Given the description of an element on the screen output the (x, y) to click on. 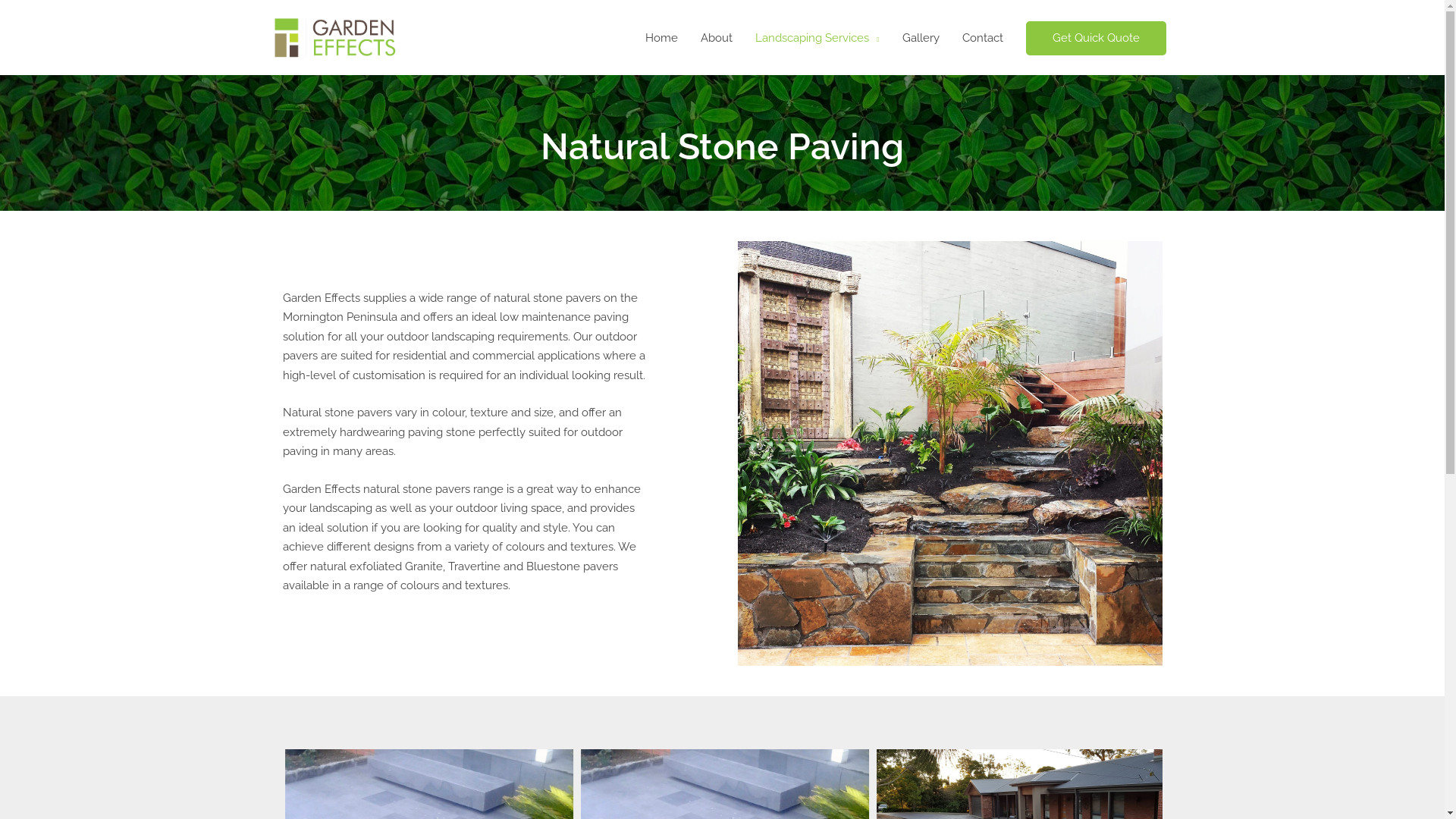
Get Quick Quote Element type: text (1095, 38)
Contact Element type: text (982, 37)
About Element type: text (716, 37)
EUVV3045 Element type: hover (949, 453)
Gallery Element type: text (920, 37)
Landscaping Services Element type: text (816, 37)
Home Element type: text (661, 37)
